Given the description of an element on the screen output the (x, y) to click on. 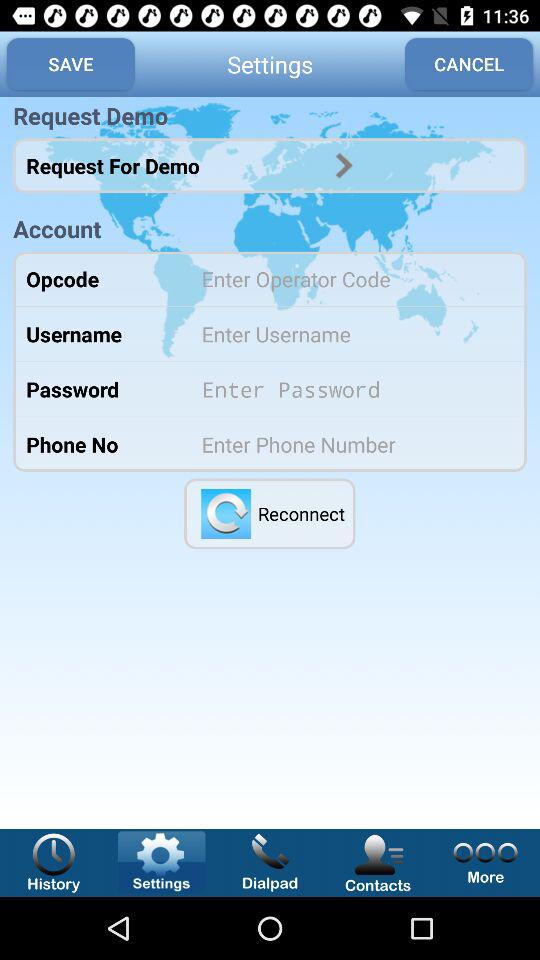
phone number area (350, 444)
